Given the description of an element on the screen output the (x, y) to click on. 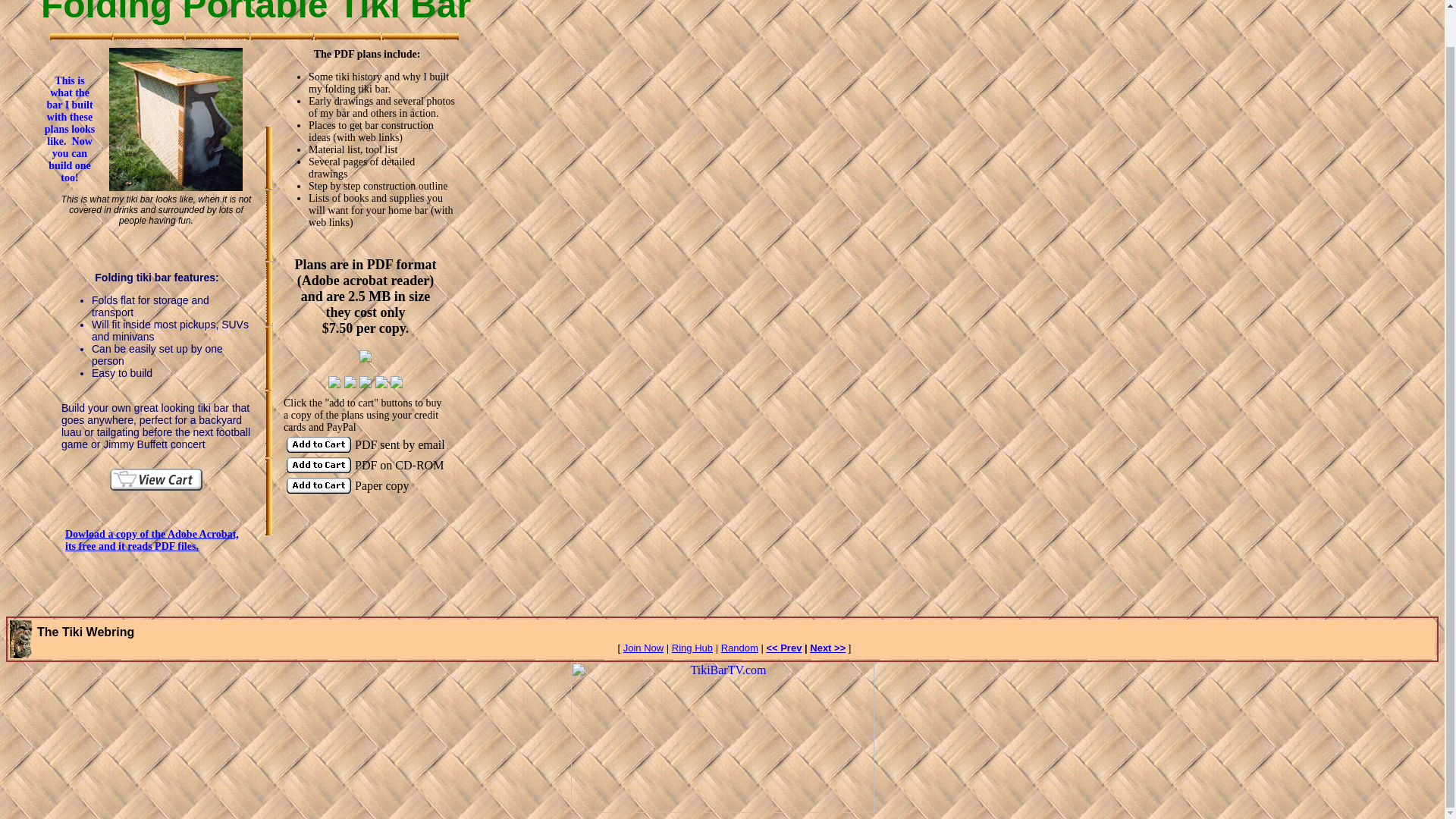
Ring Hub (692, 647)
Join Now (643, 647)
Random (739, 647)
